Given the description of an element on the screen output the (x, y) to click on. 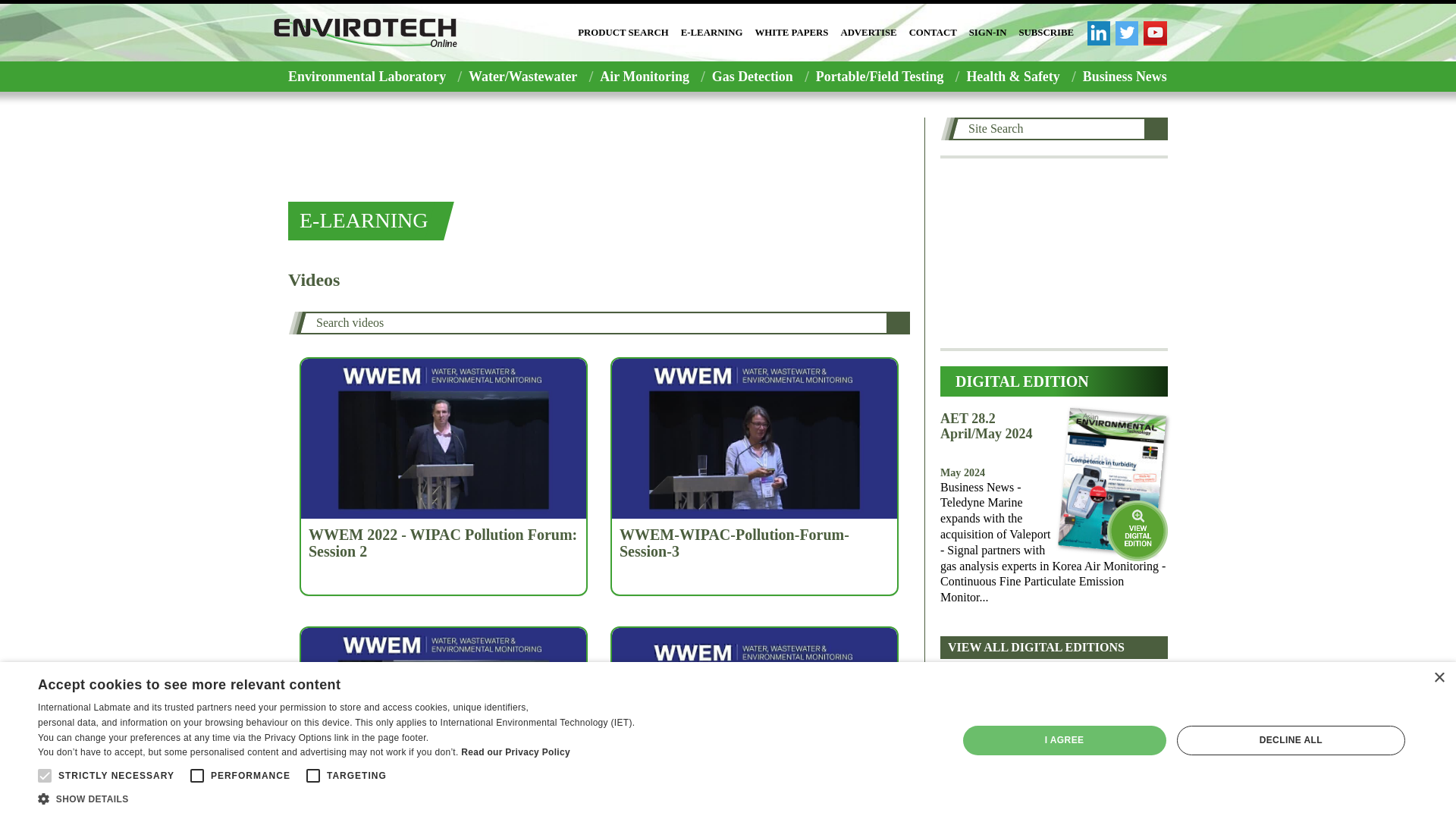
WWEM-WIPAC-Pollution-Forum-Session-3 (754, 542)
Environmental Laboratory (362, 76)
PRODUCT SEARCH (623, 32)
WHITE PAPERS (791, 32)
CONTACT (932, 32)
2022 WIPAC Flow forum at WWEM - Session 1 (443, 807)
3rd party ad content (599, 151)
E-LEARNING (711, 32)
SUBSCRIBE (1045, 32)
SIGN-IN (988, 32)
2022 WIPAC Flow forum at WWEM - Session 2 (754, 807)
WWEM 2022 - WIPAC Pollution Forum: Session 2 (443, 542)
ADVERTISE (868, 32)
3rd party ad content (1053, 253)
